Given the description of an element on the screen output the (x, y) to click on. 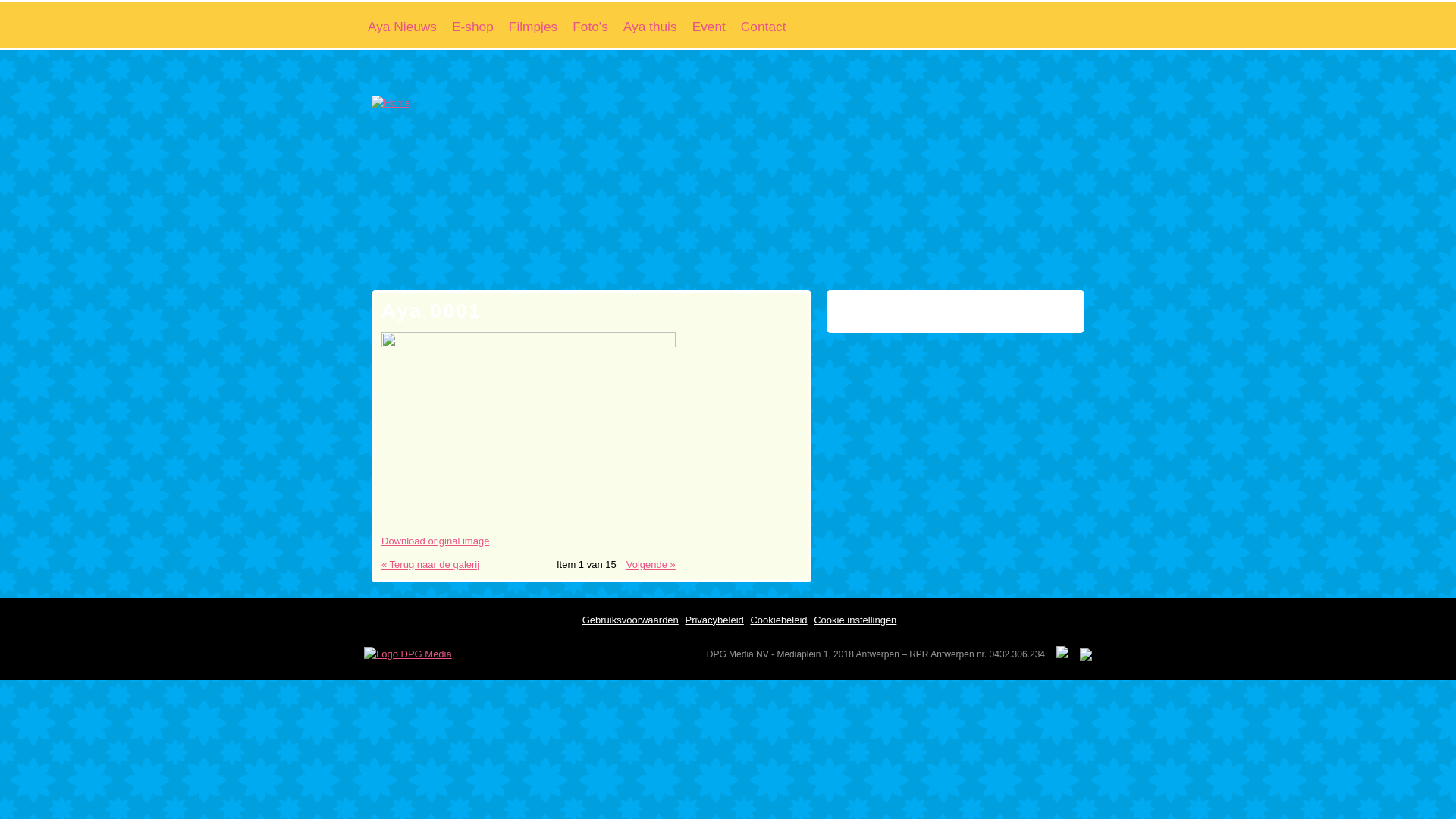
Gebruiksvoorwaarden Element type: text (630, 619)
Met steun van de Vlaamse Overheid Element type: text (940, 309)
Aya Nieuws Element type: text (402, 24)
Home Element type: hover (390, 102)
Event Element type: text (708, 24)
Mobiel 21 Element type: text (1019, 309)
Contact Element type: text (763, 24)
Home Element type: hover (703, 50)
VTM KIDS Element type: text (876, 309)
Aya thuis Element type: text (649, 24)
Privacybeleid Element type: text (713, 619)
E-shop Element type: text (472, 24)
Filmpjes Element type: text (533, 24)
Download original image Element type: text (435, 540)
Cookiebeleid Element type: text (777, 619)
Cookie instellingen Element type: text (854, 619)
Foto's Element type: text (589, 24)
